Given the description of an element on the screen output the (x, y) to click on. 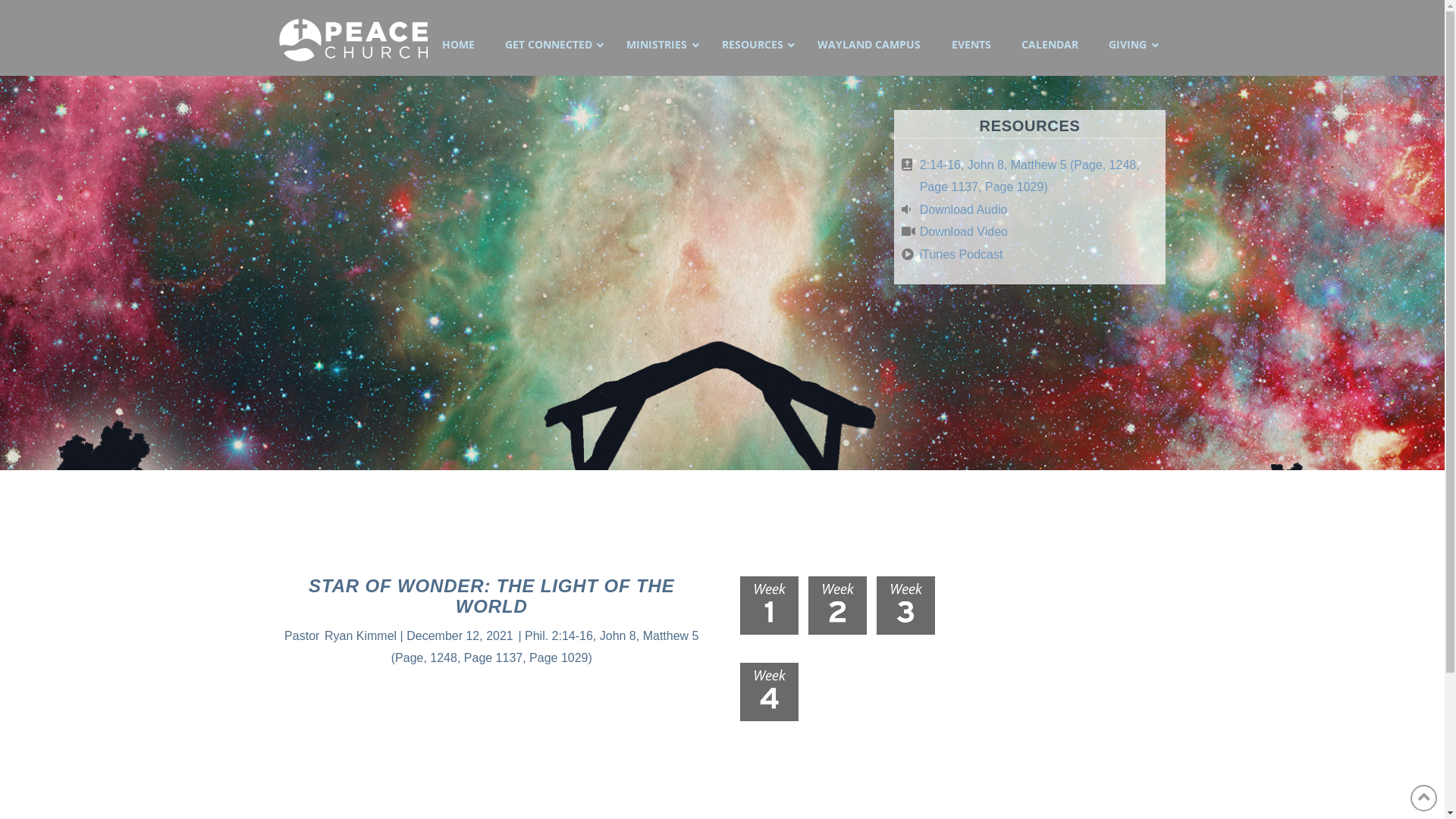
Download Audio Element type: text (963, 209)
MINISTRIES Element type: text (658, 44)
CALENDAR Element type: text (1049, 44)
SERMON ARCHIVE Element type: text (721, 794)
Star of Wonder: The Light of the World Element type: hover (568, 272)
Back to Top Element type: hover (1423, 797)
GIVING Element type: text (1129, 44)
WAYLAND CAMPUS Element type: text (868, 44)
iTunes Podcast Element type: text (961, 253)
RESOURCES Element type: text (754, 44)
HOME Element type: text (457, 44)
EVENTS Element type: text (970, 44)
Download Video Element type: text (963, 231)
